Given the description of an element on the screen output the (x, y) to click on. 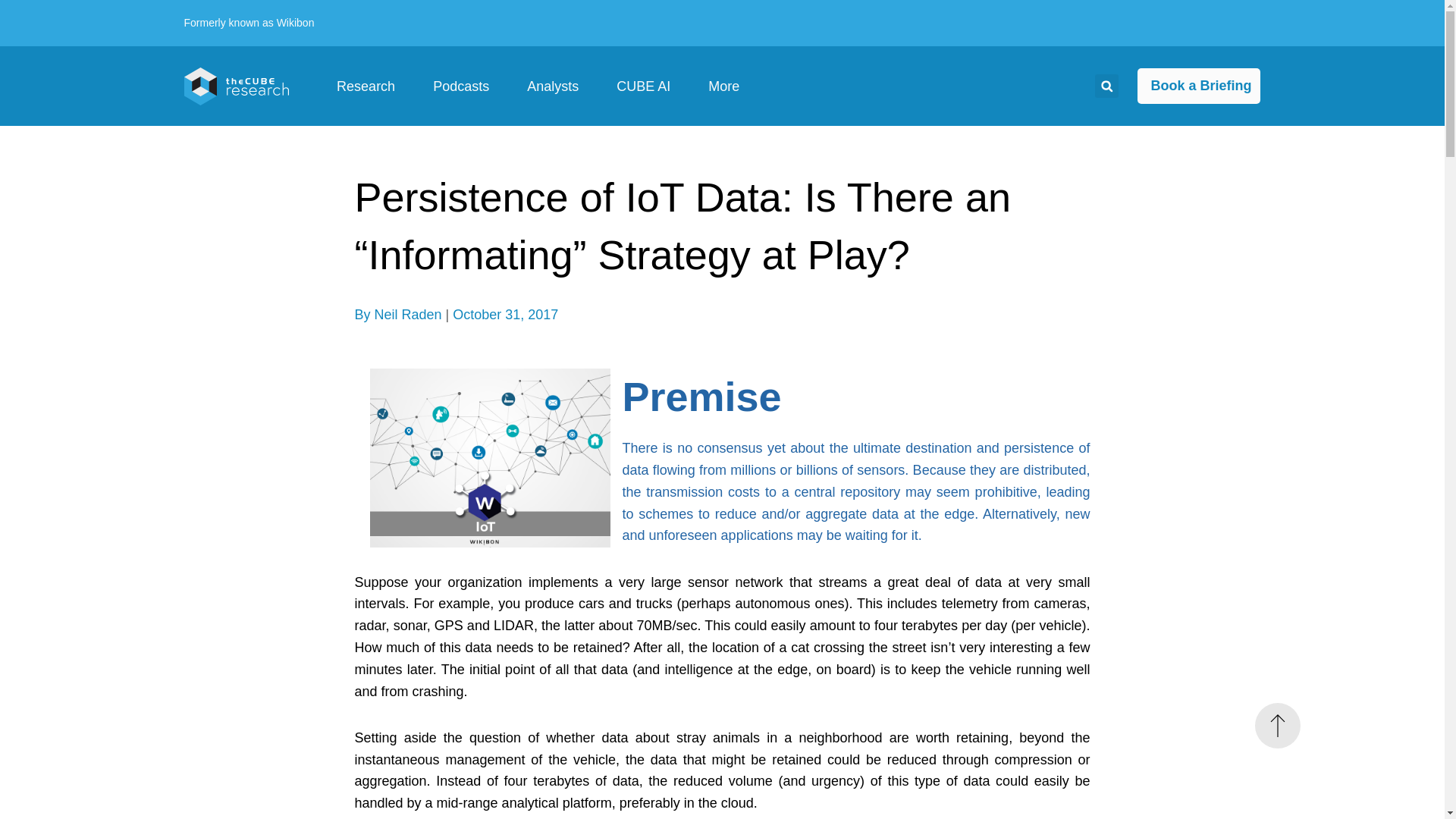
More (723, 85)
Neil Raden (408, 314)
CUBE AI (642, 85)
Book a Briefing (1198, 85)
Research (365, 85)
Analysts (552, 85)
Posts by Neil Raden (408, 314)
Podcasts (460, 85)
